Given the description of an element on the screen output the (x, y) to click on. 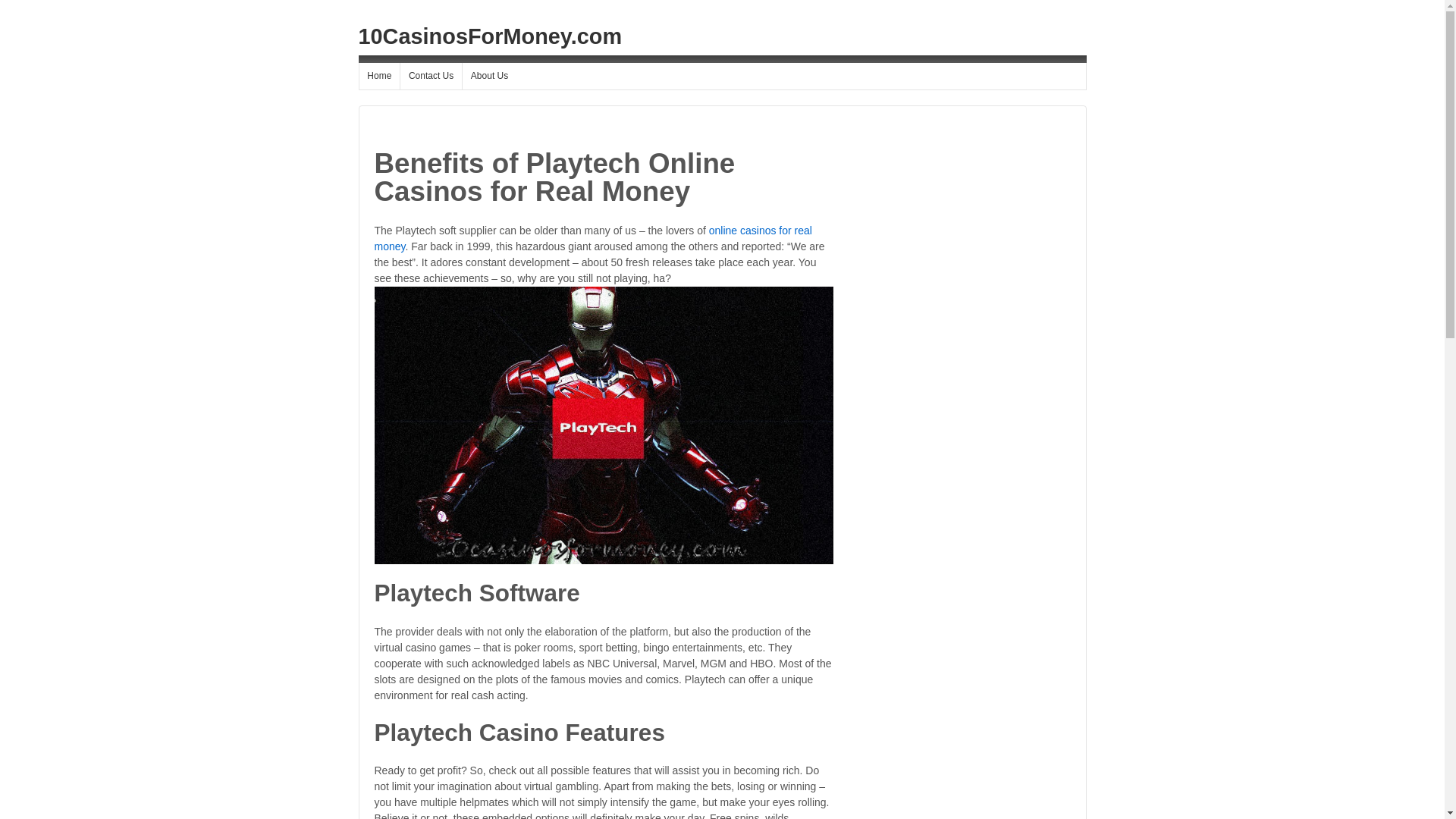
Contact Us Element type: text (430, 75)
online casinos for real money Element type: text (593, 238)
About Us Element type: text (488, 75)
Home Element type: text (379, 75)
